Given the description of an element on the screen output the (x, y) to click on. 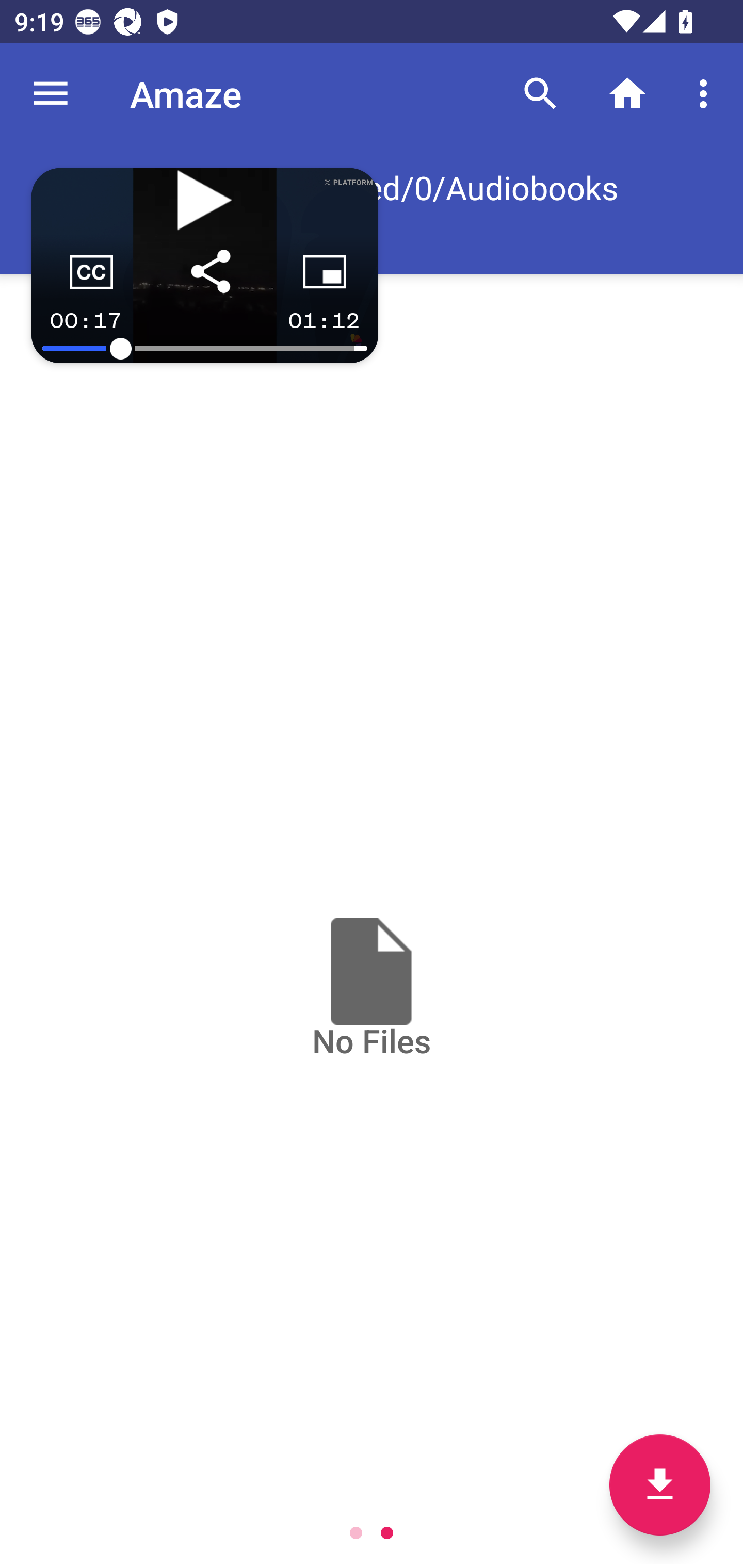
Navigate up (50, 93)
Search (540, 93)
Home (626, 93)
More options (706, 93)
